Given the description of an element on the screen output the (x, y) to click on. 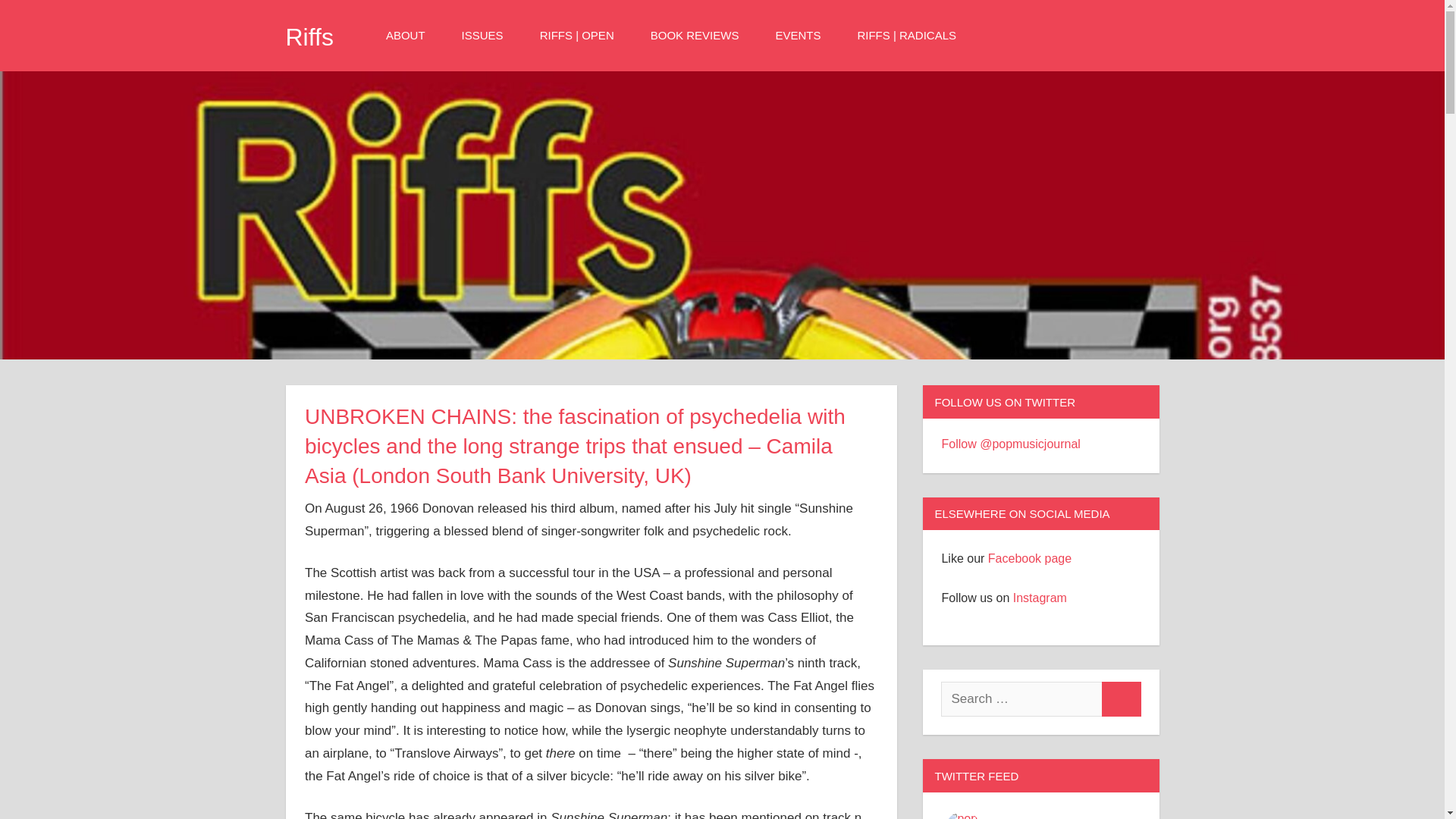
Riffs (309, 36)
Search for: (1021, 698)
ISSUES (486, 35)
ABOUT (410, 35)
